Given the description of an element on the screen output the (x, y) to click on. 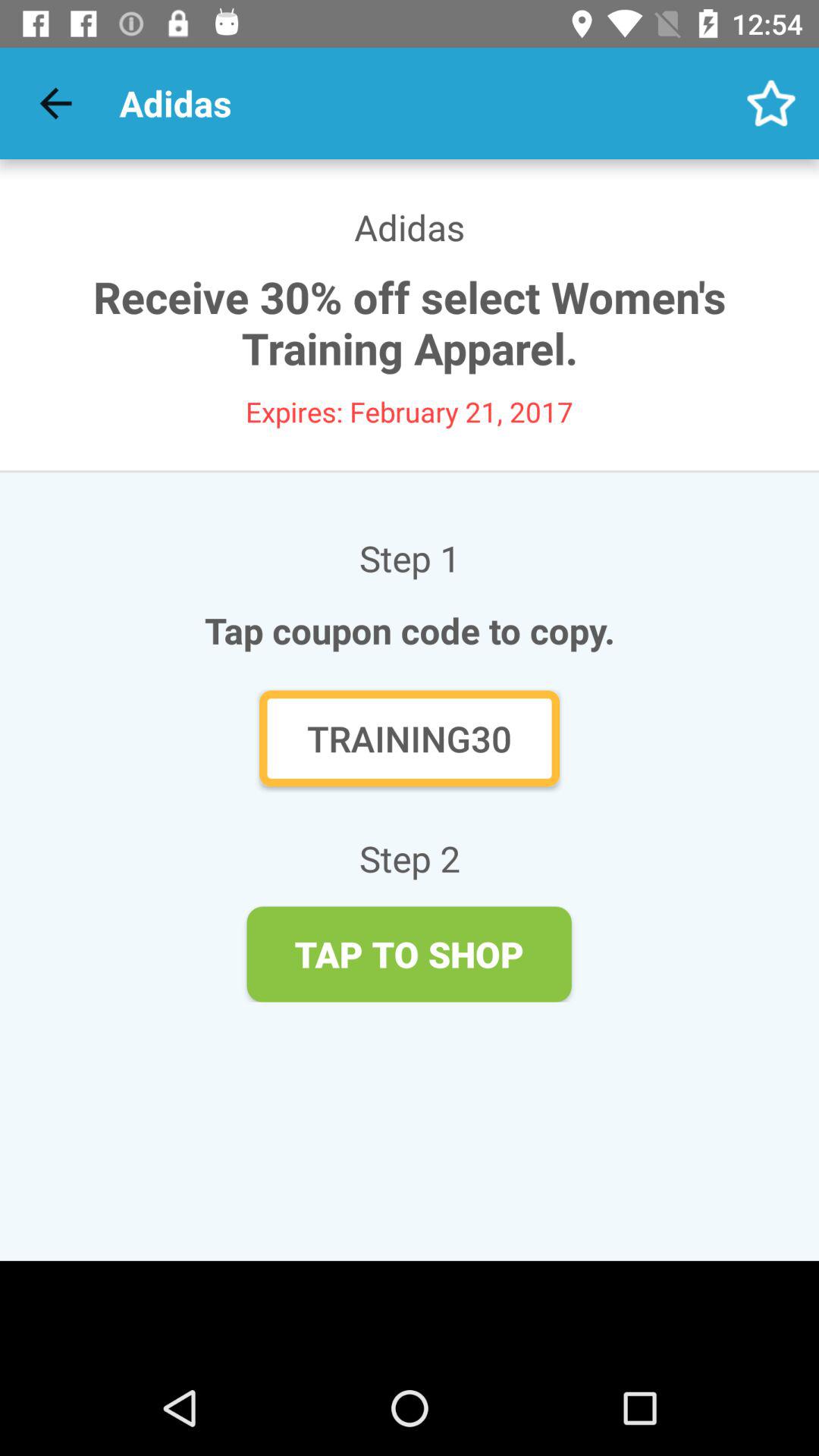
open the icon above the adidas icon (55, 103)
